Given the description of an element on the screen output the (x, y) to click on. 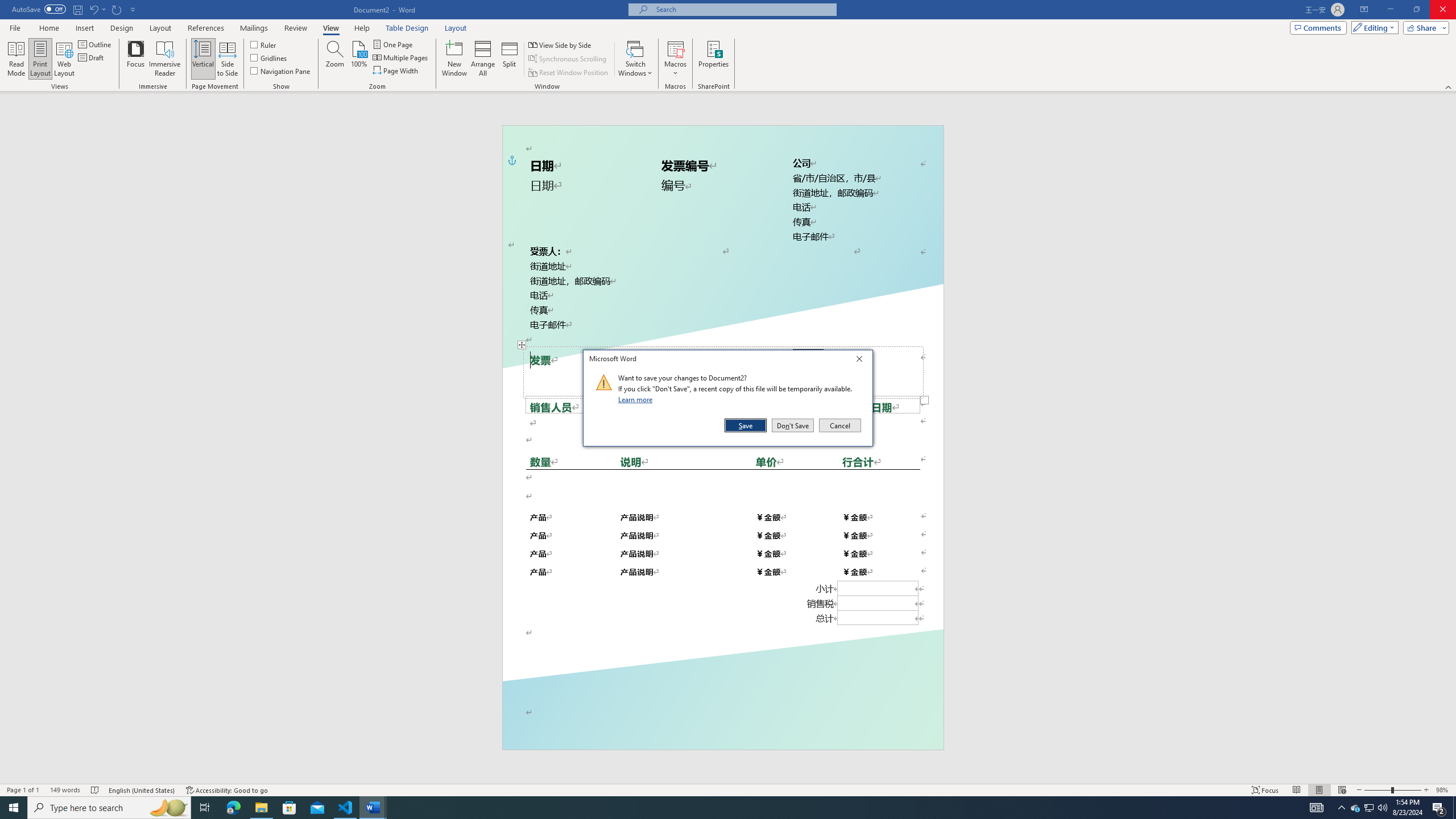
Don't Save (792, 425)
